Given the description of an element on the screen output the (x, y) to click on. 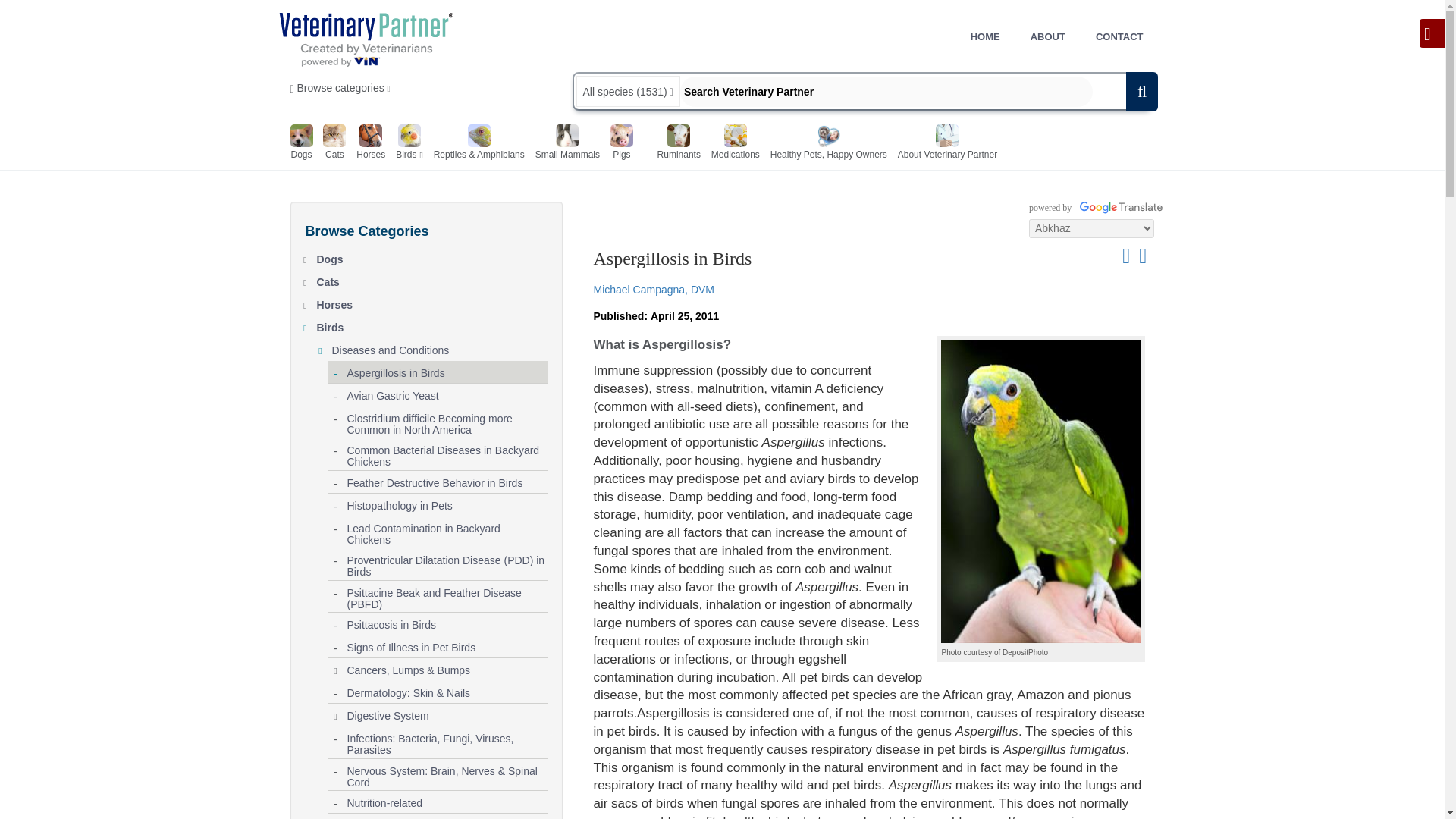
About Veterinary Partner (947, 144)
Horses (432, 301)
Cats (432, 279)
Horses (370, 144)
Healthy Pets, Happy Owners (828, 144)
Aspergillosis in Birds (447, 370)
Ruminants (679, 144)
Diseases and Conditions (439, 347)
Small Mammals (567, 144)
Medications (735, 144)
